Given the description of an element on the screen output the (x, y) to click on. 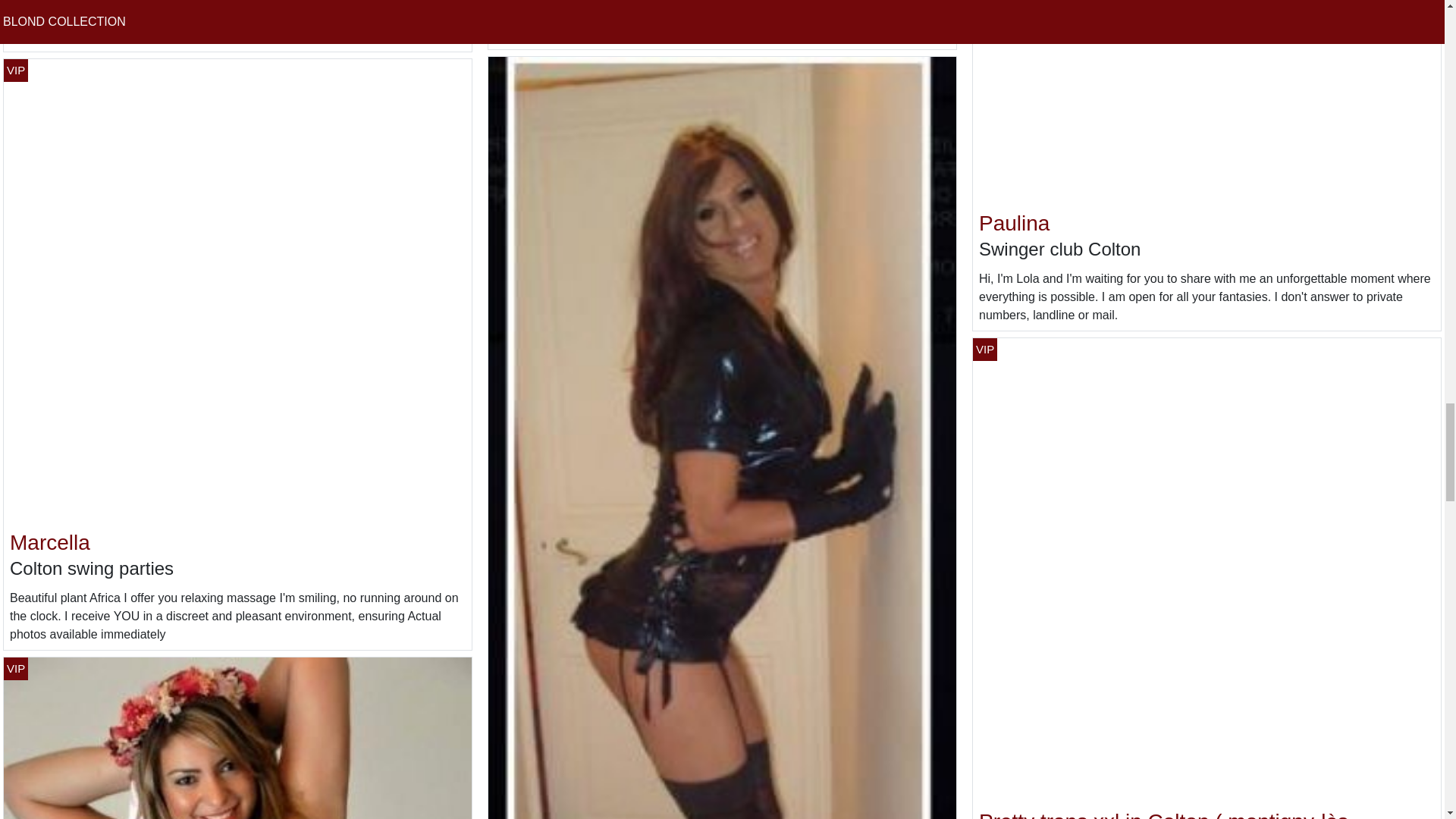
Marcella (50, 542)
